Given the description of an element on the screen output the (x, y) to click on. 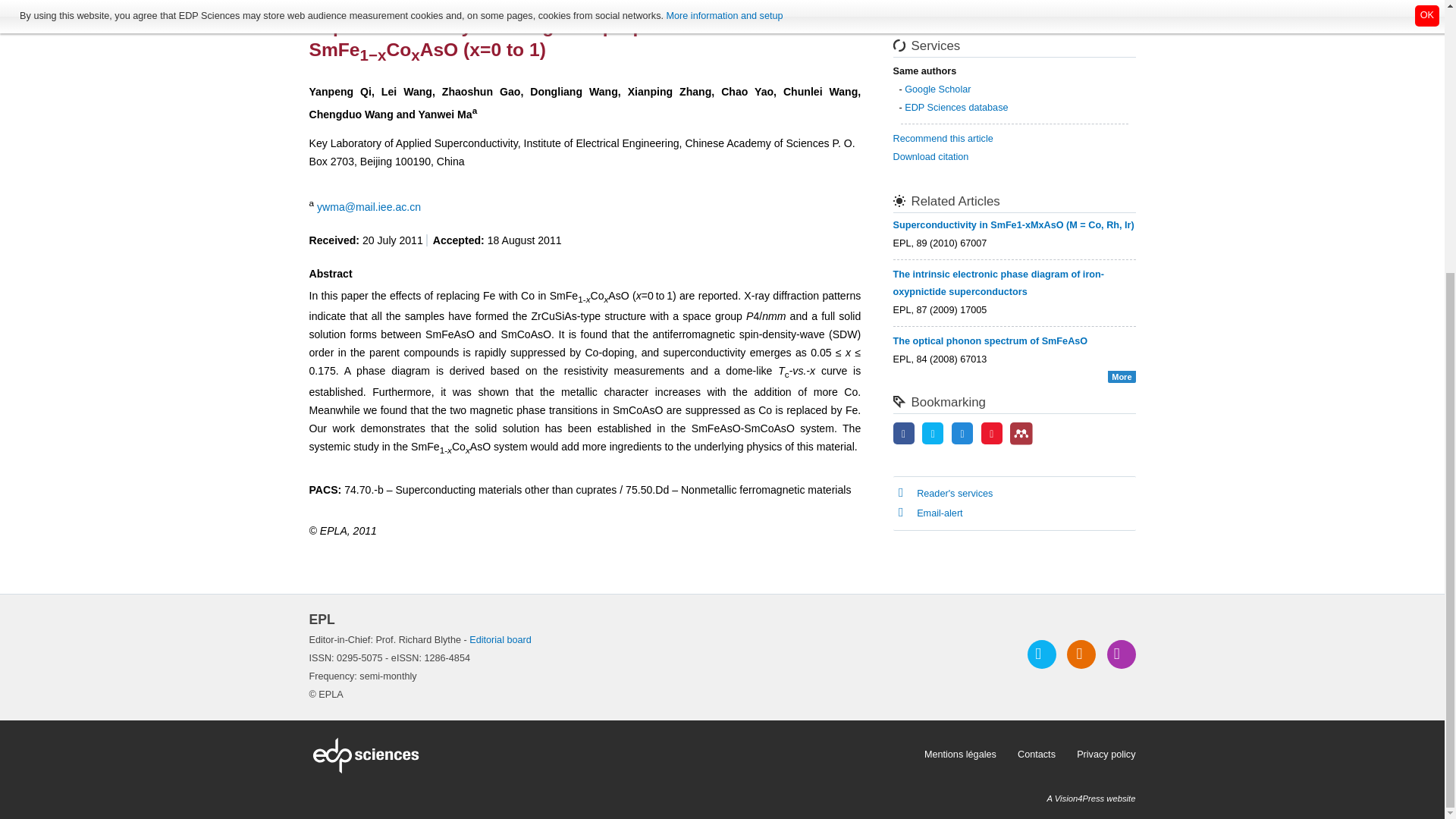
Mendeley (1021, 433)
EDP Sciences website (611, 754)
Register to the journal email alert (1120, 654)
Follow us on Twitter (1042, 654)
Share on Twitter (932, 434)
Share on LinkedIn (962, 434)
Share on Sina Weibo (992, 434)
Share on Facebook (903, 434)
Access our RSS feeds (1081, 654)
Add this article to your Mendeley library (1021, 441)
